Given the description of an element on the screen output the (x, y) to click on. 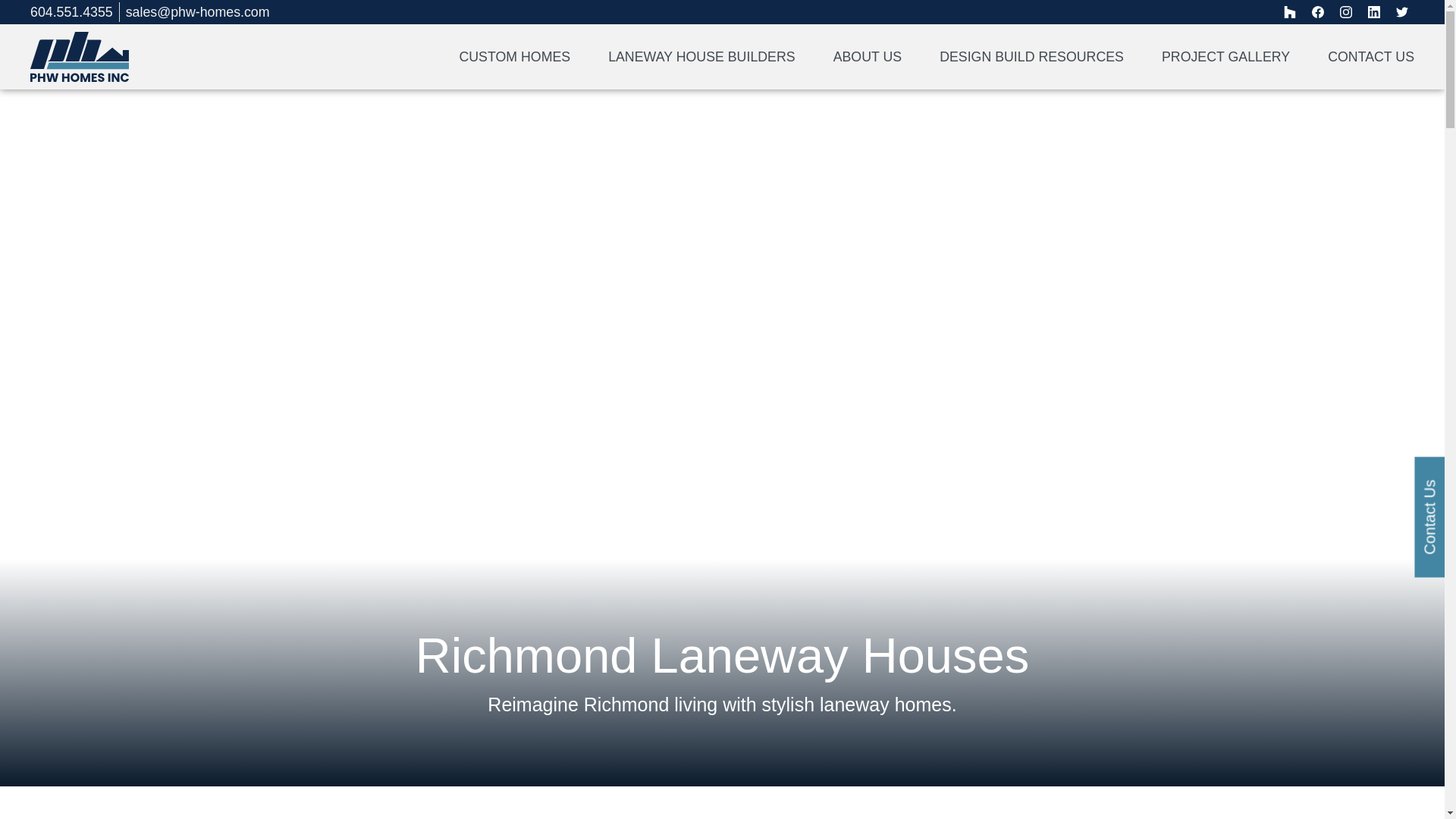
CUSTOM HOMES (514, 56)
PROJECT GALLERY (1225, 56)
DESIGN BUILD RESOURCES (1031, 56)
ABOUT US (867, 56)
CONTACT US (1370, 56)
LANEWAY HOUSE BUILDERS (701, 56)
604.551.4355 (71, 12)
